Given the description of an element on the screen output the (x, y) to click on. 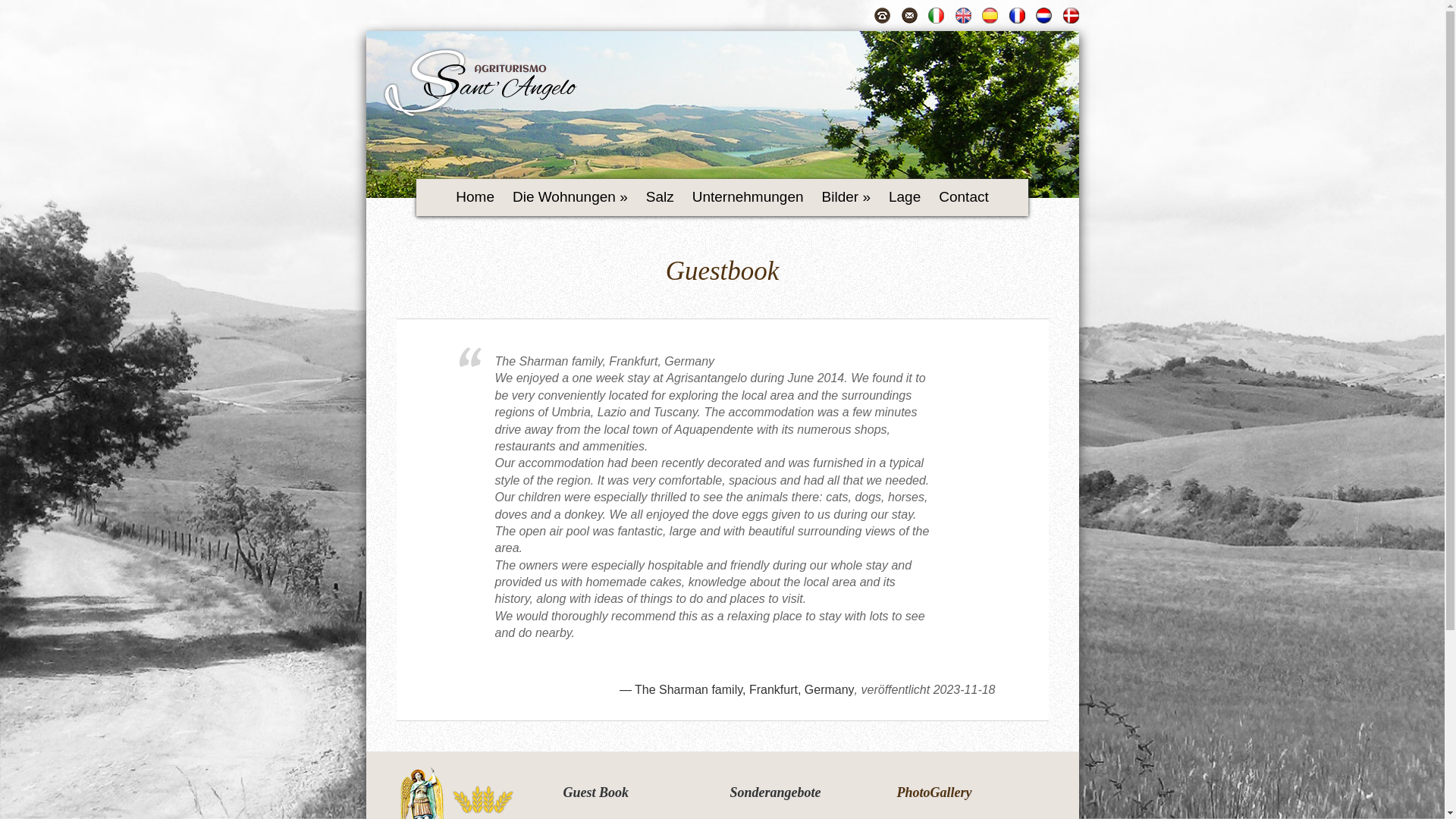
Sonderangebote (775, 792)
Home (474, 198)
Guest Book (595, 792)
English (963, 15)
Dansk (1070, 15)
Lage (904, 198)
Contact (963, 198)
Italiano (935, 15)
Unternehmungen (747, 198)
Netherland (1043, 15)
Salz (659, 198)
